Given the description of an element on the screen output the (x, y) to click on. 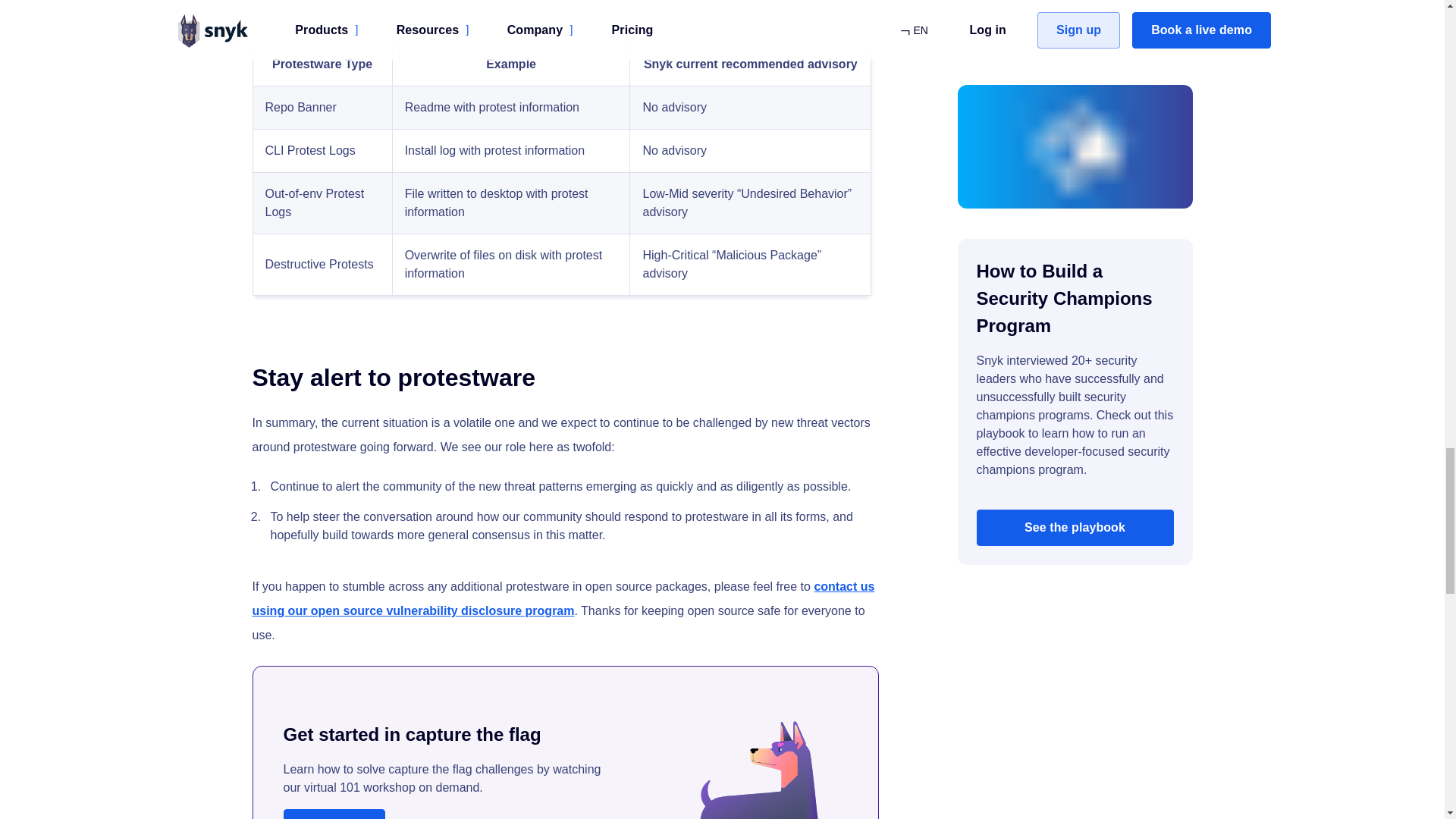
Watch now (334, 814)
